Given the description of an element on the screen output the (x, y) to click on. 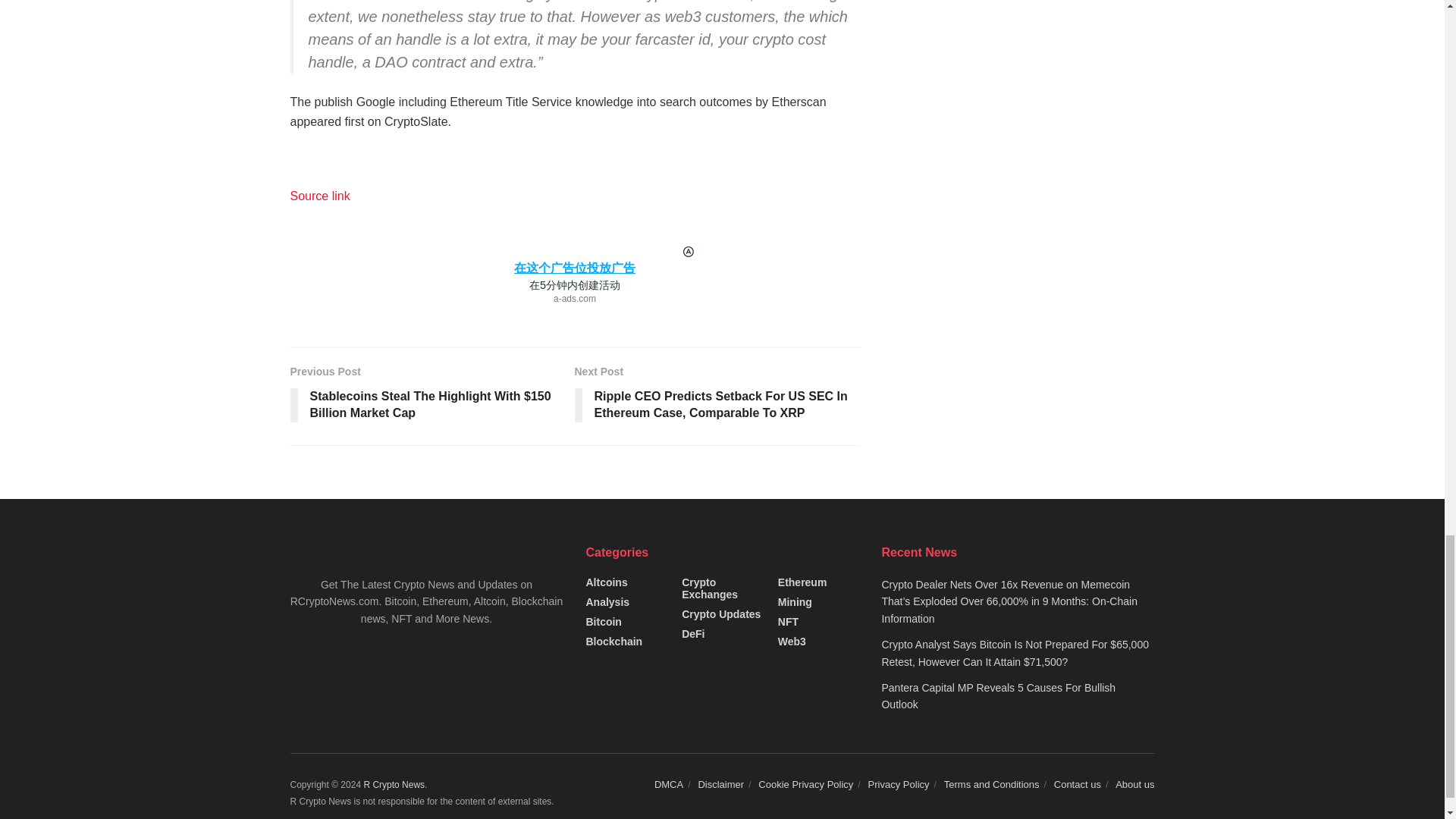
R Crypto News (393, 784)
